Given the description of an element on the screen output the (x, y) to click on. 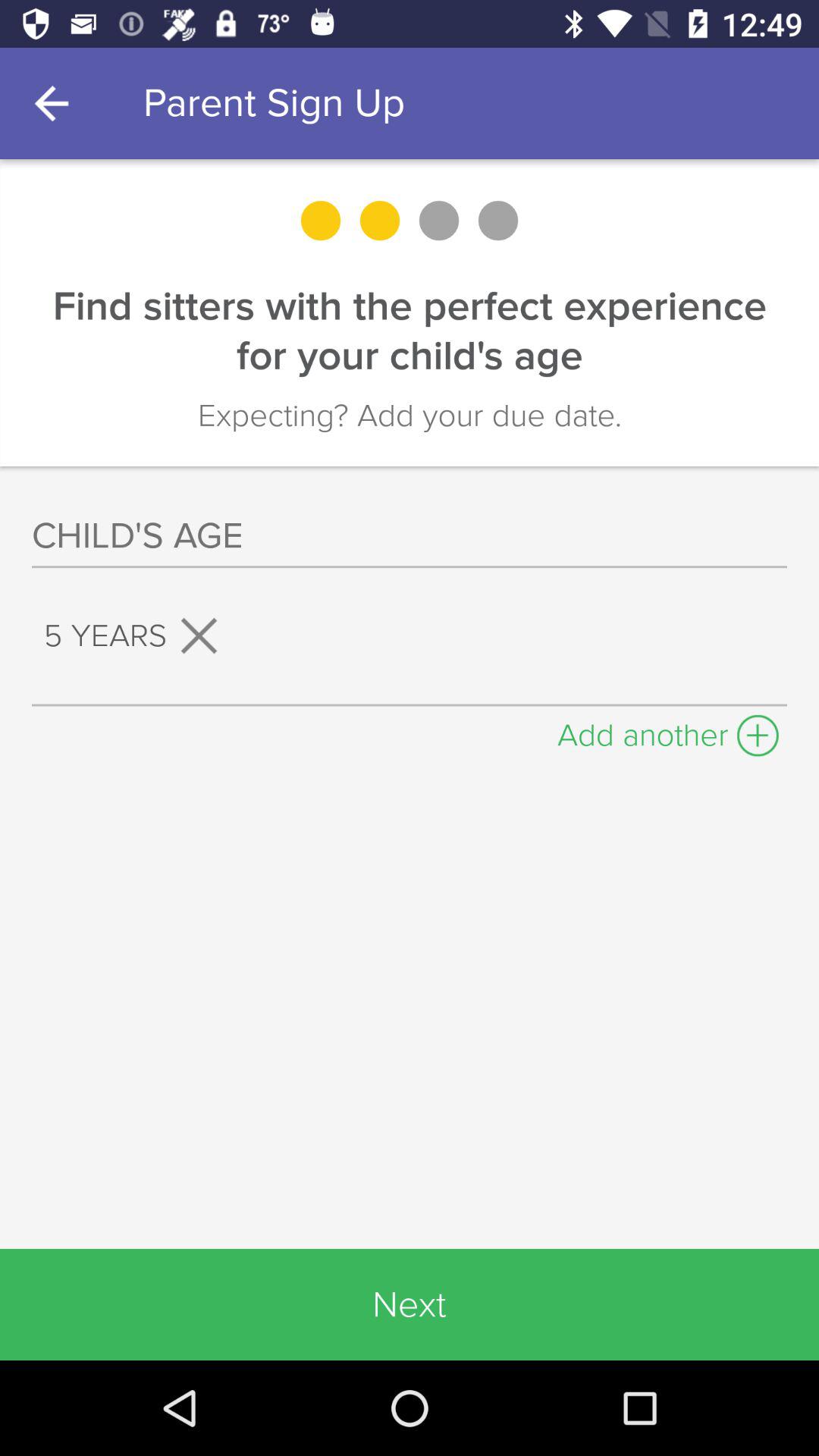
choose the add another icon (668, 731)
